Given the description of an element on the screen output the (x, y) to click on. 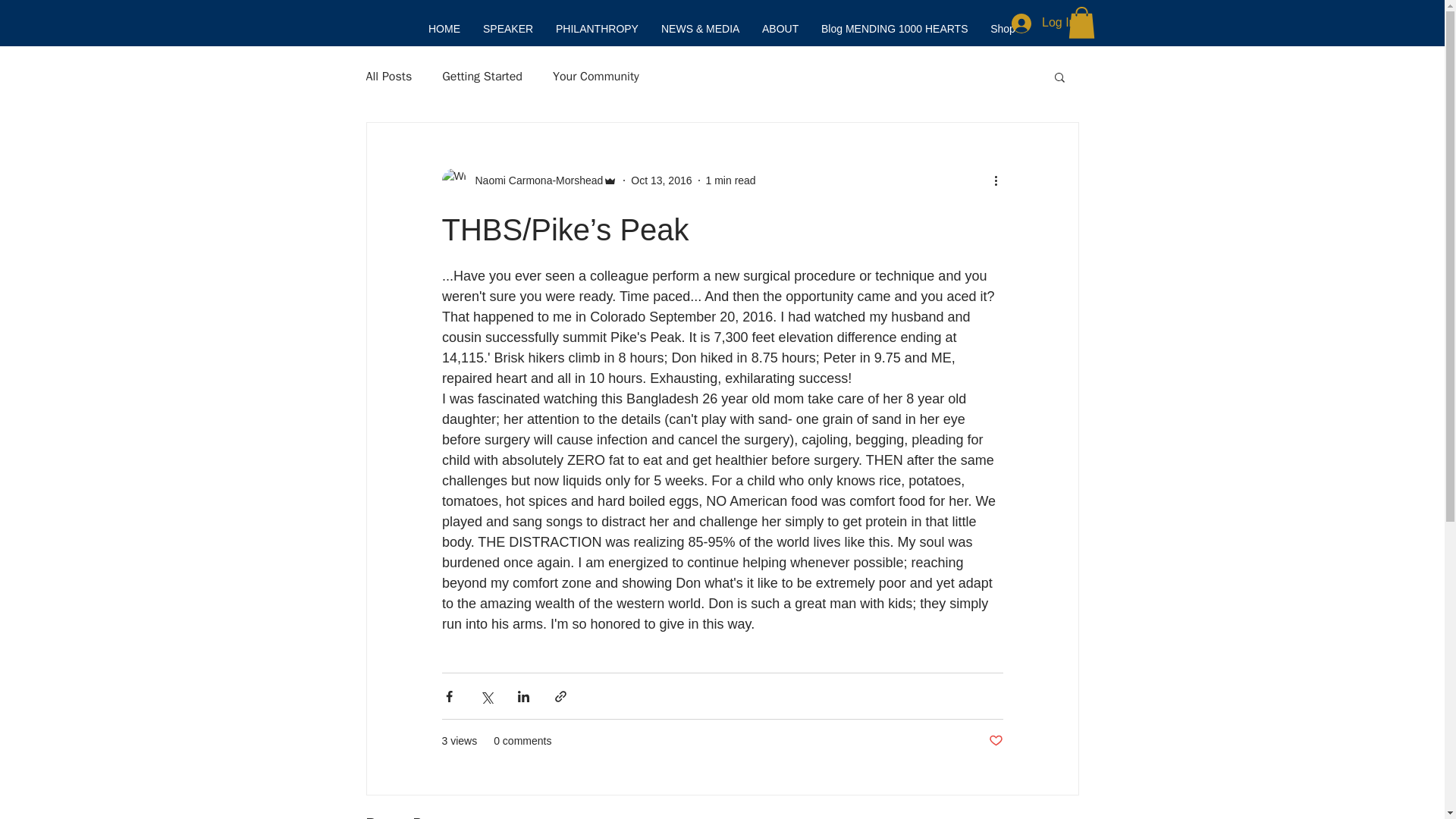
Log In (1043, 23)
Shop (1002, 27)
1 min read (730, 180)
Blog MENDING 1000 HEARTS (893, 27)
See All (1061, 816)
HOME (443, 27)
ABOUT (780, 27)
Naomi Carmona-Morshead (529, 180)
Naomi Carmona-Morshead (533, 180)
SPEAKER (507, 27)
